Given the description of an element on the screen output the (x, y) to click on. 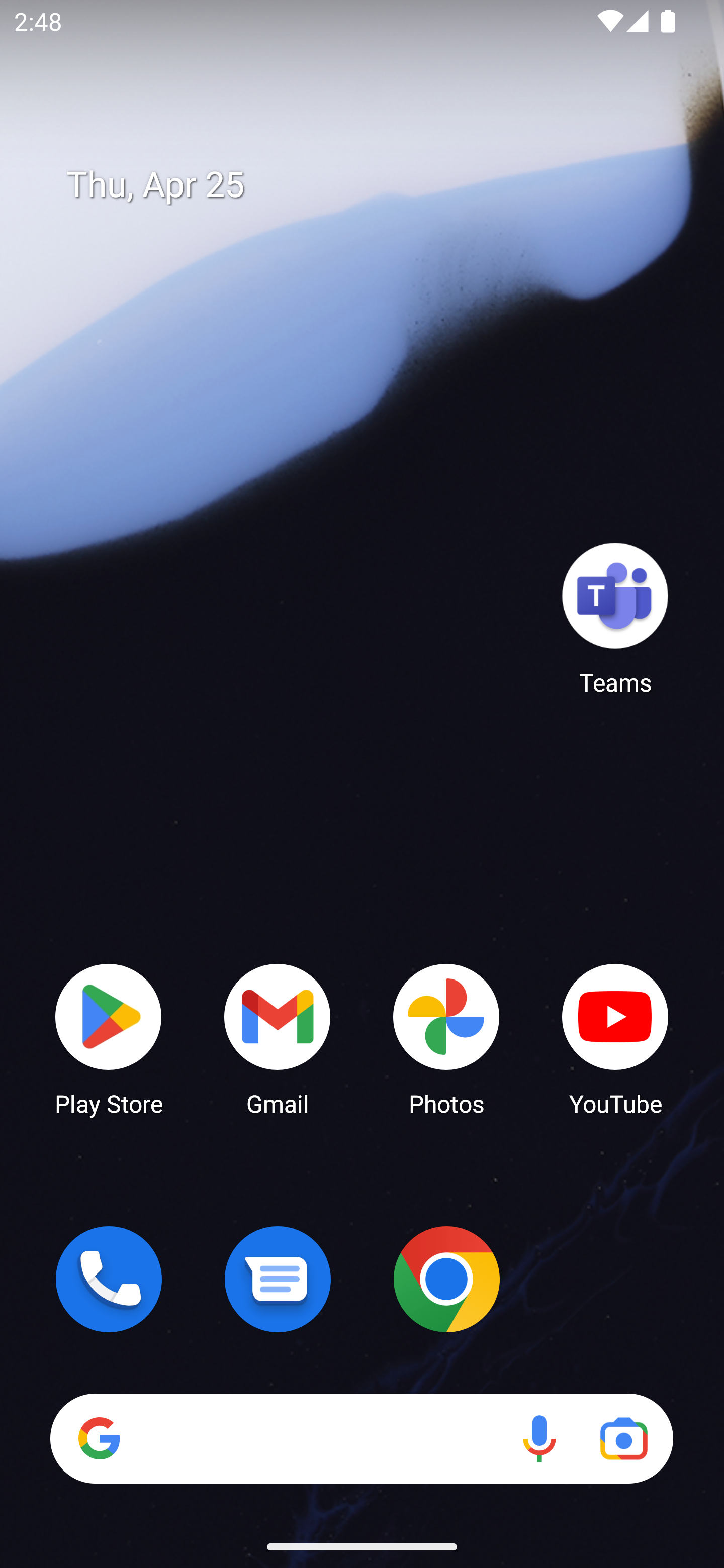
Thu, Apr 25 (375, 184)
Teams (615, 617)
Play Store (108, 1038)
Gmail (277, 1038)
Photos (445, 1038)
YouTube (615, 1038)
Phone (108, 1279)
Messages (277, 1279)
Chrome (446, 1279)
Search Voice search Google Lens (361, 1438)
Voice search (539, 1438)
Google Lens (623, 1438)
